Given the description of an element on the screen output the (x, y) to click on. 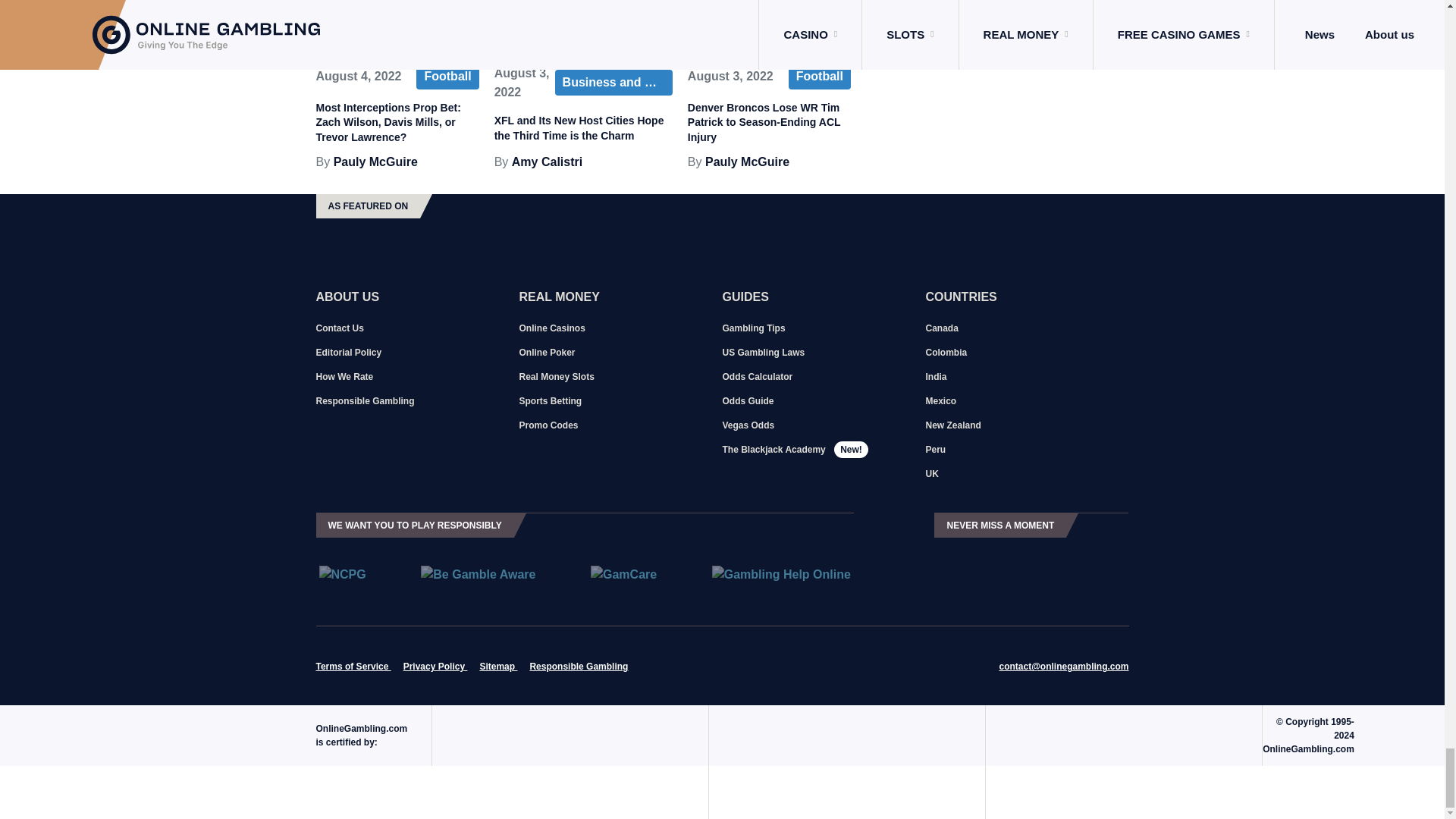
Football (447, 76)
Football (819, 76)
Business and Commerce (613, 82)
